Given the description of an element on the screen output the (x, y) to click on. 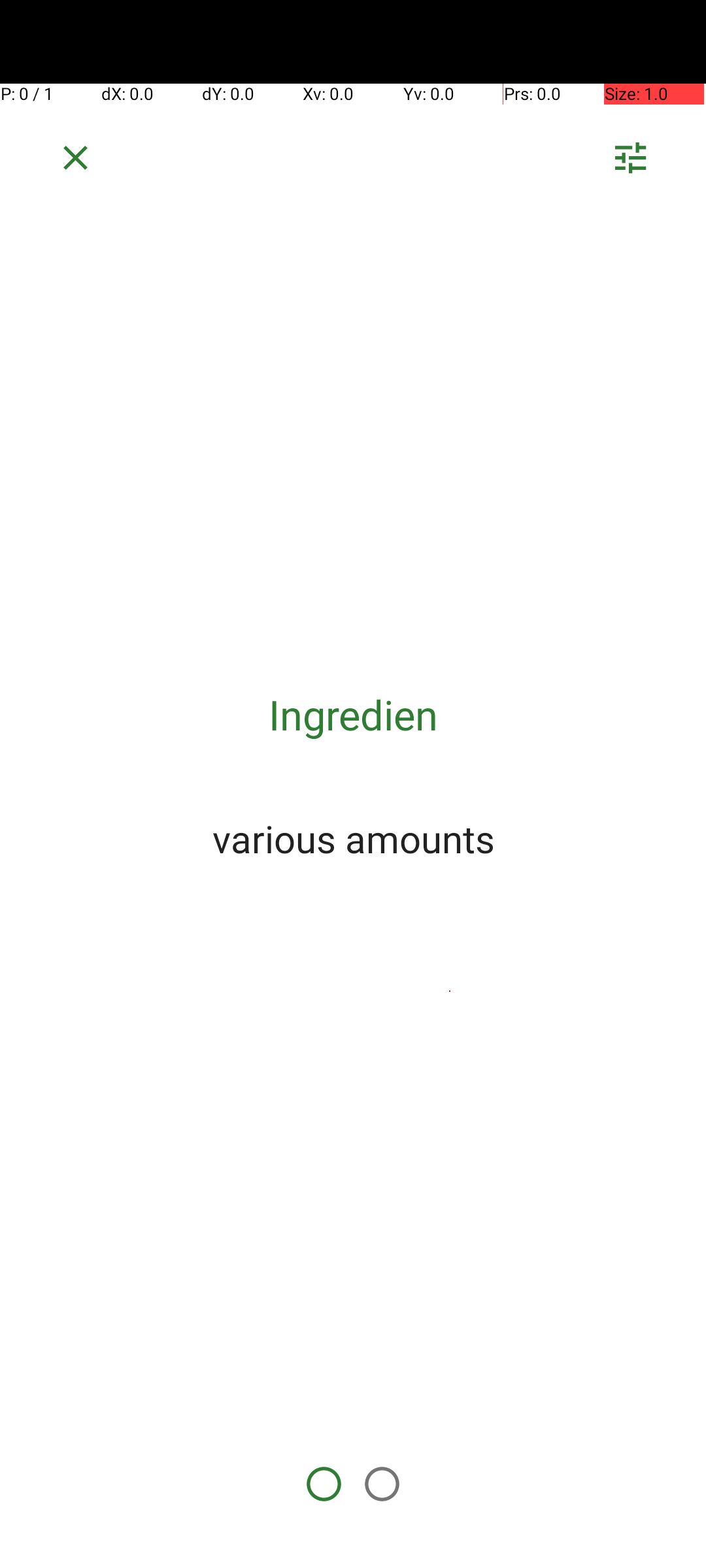
various amounts Element type: android.widget.TextView (352, 838)
